Given the description of an element on the screen output the (x, y) to click on. 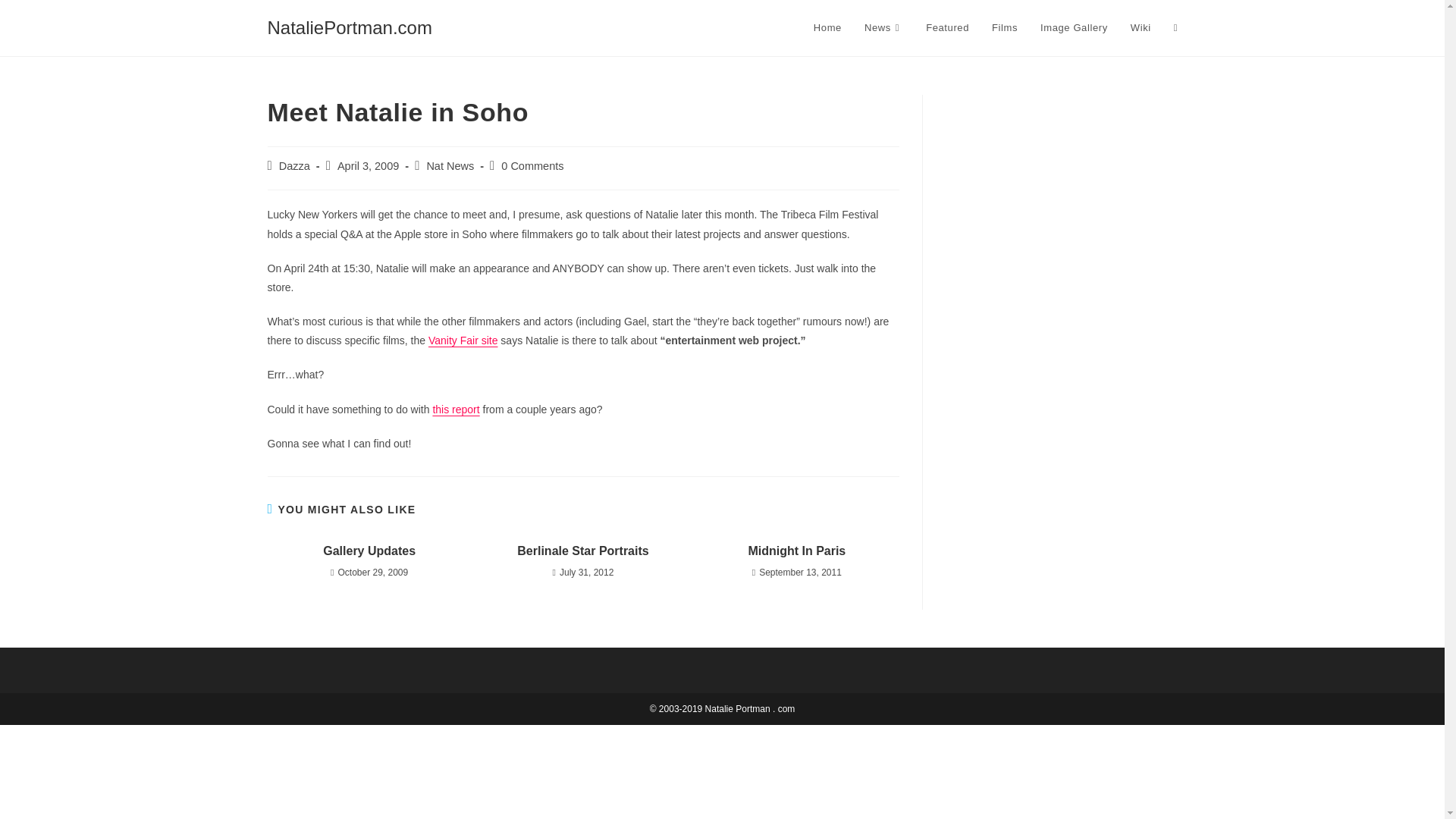
this report (455, 409)
NataliePortman.com (348, 27)
Midnight In Paris (796, 550)
Vanity Fair site (462, 340)
Dazza (294, 165)
Posts by Dazza (294, 165)
0 Comments (531, 165)
Nat News (450, 165)
Berlinale Star Portraits (582, 550)
Gallery Updates (368, 550)
Image Gallery (1074, 28)
News (883, 28)
Home (827, 28)
Featured (946, 28)
